Given the description of an element on the screen output the (x, y) to click on. 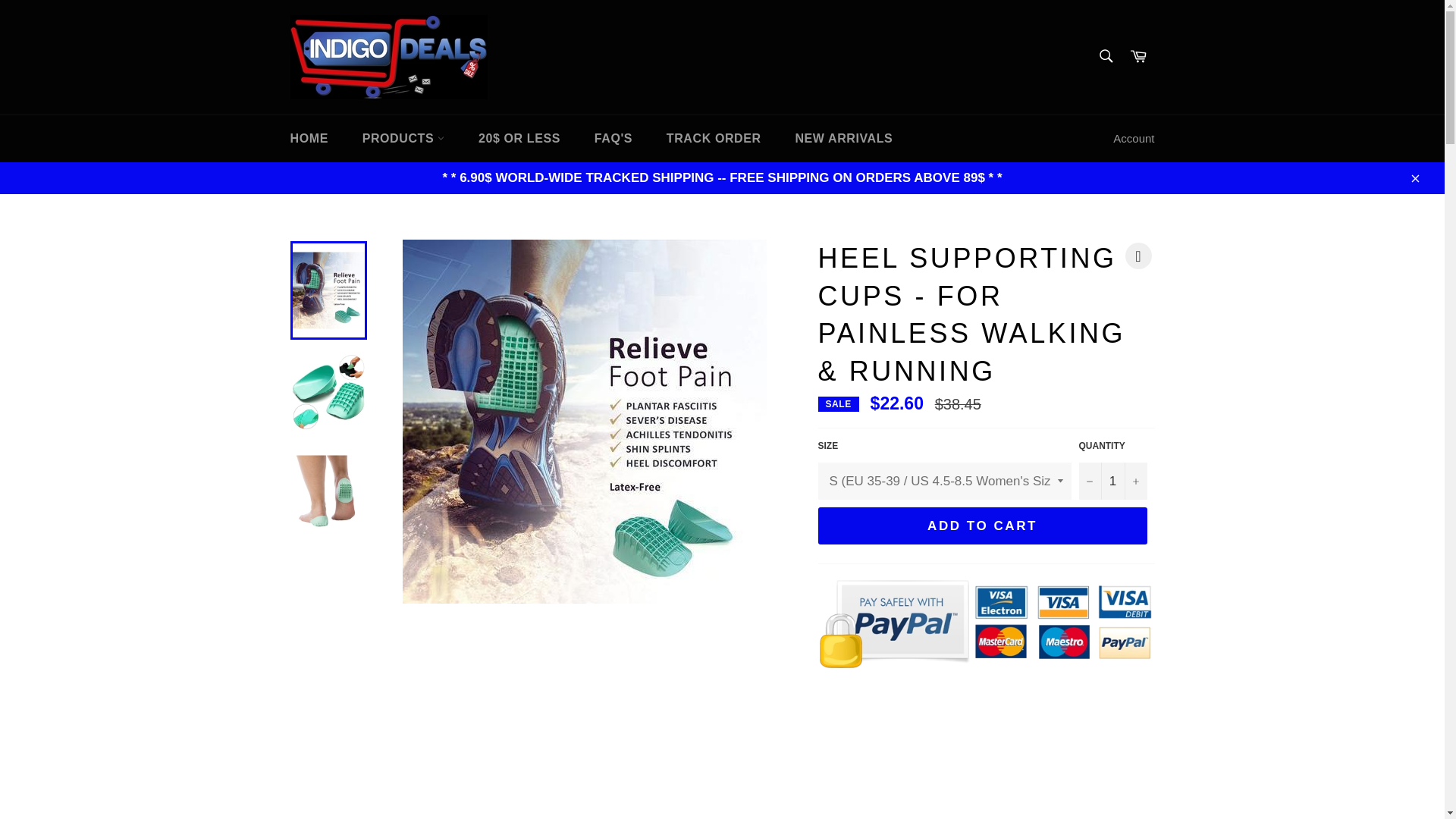
Cart (1138, 57)
HOME (308, 138)
PRODUCTS (403, 138)
Search (1104, 56)
1 (1112, 480)
